Given the description of an element on the screen output the (x, y) to click on. 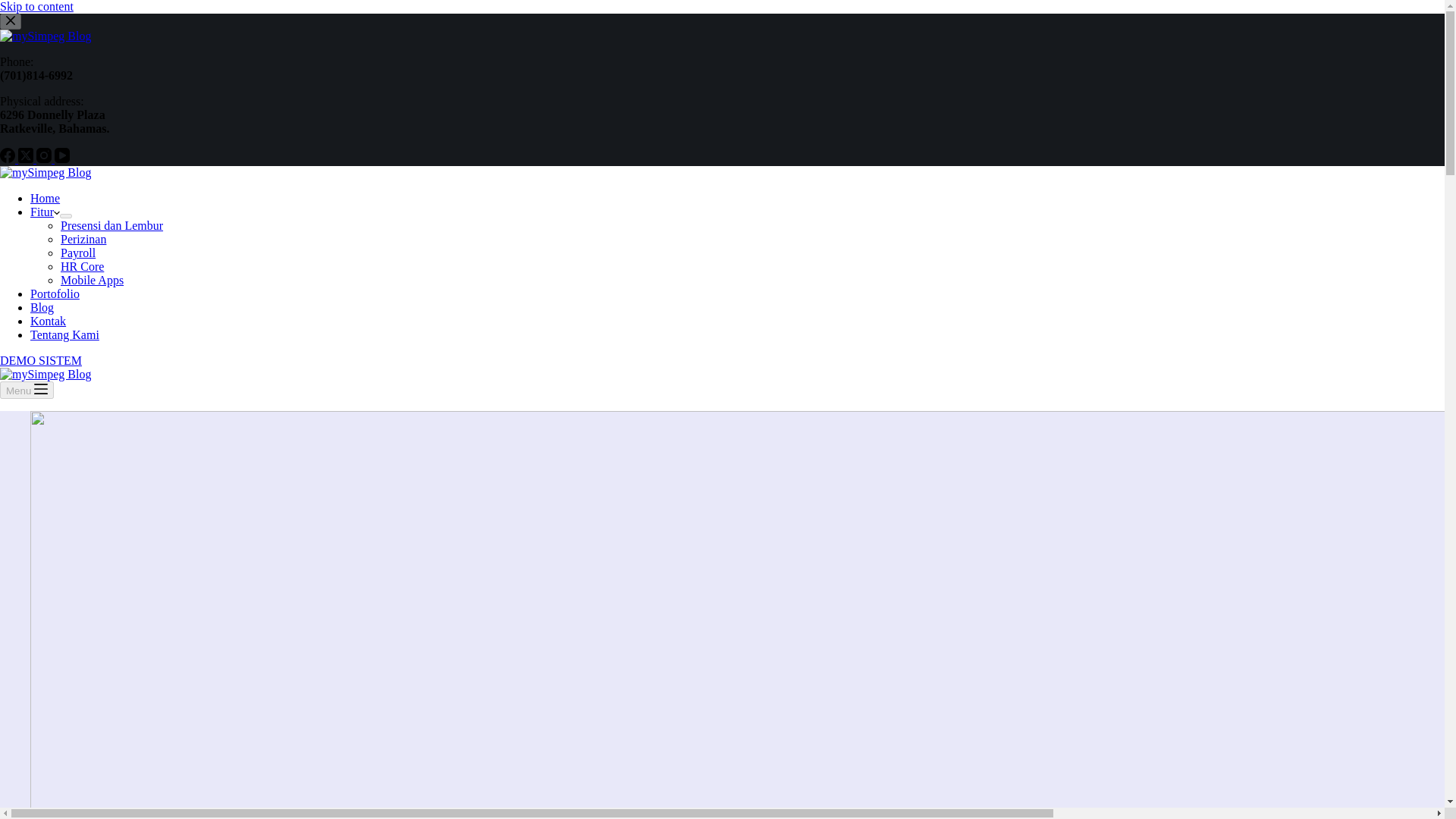
Tentang Kami (64, 334)
DEMO SISTEM (40, 359)
Menu (26, 389)
Skip to content (37, 6)
Mobile Apps (92, 279)
Presensi dan Lembur (112, 225)
Home (44, 197)
Fitur (44, 211)
Perizinan (83, 238)
Portofolio (55, 293)
